Given the description of an element on the screen output the (x, y) to click on. 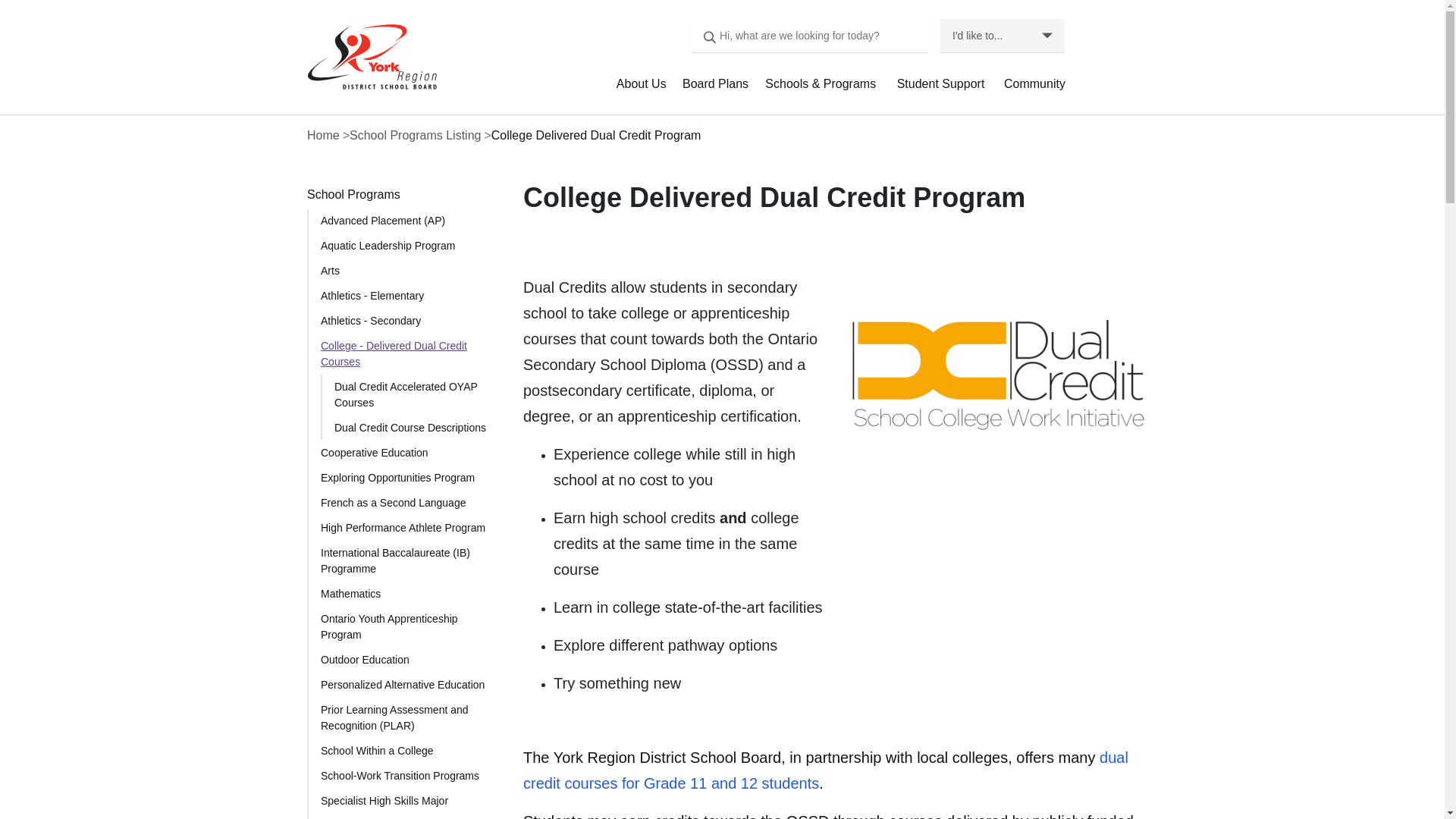
Board Plans (717, 91)
About Us (642, 91)
Home (367, 56)
About Us (642, 91)
Board Plans (717, 91)
